Given the description of an element on the screen output the (x, y) to click on. 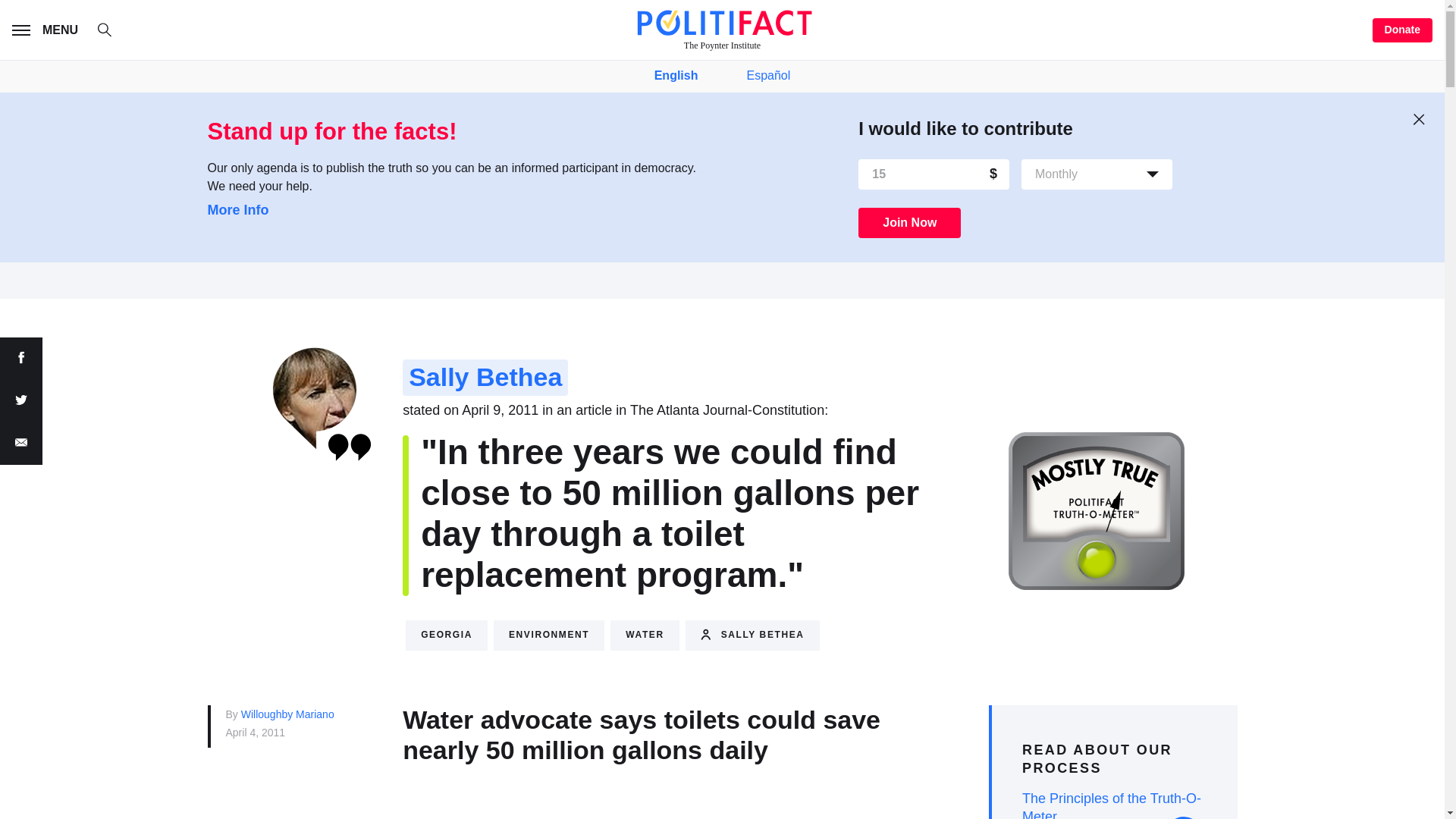
Donate (1402, 30)
Environment (548, 634)
Sally Bethea (752, 634)
The Poynter Institute (721, 29)
Sally Bethea (485, 377)
Water (644, 634)
Search (111, 31)
Georgia (446, 634)
MENU (47, 30)
